Given the description of an element on the screen output the (x, y) to click on. 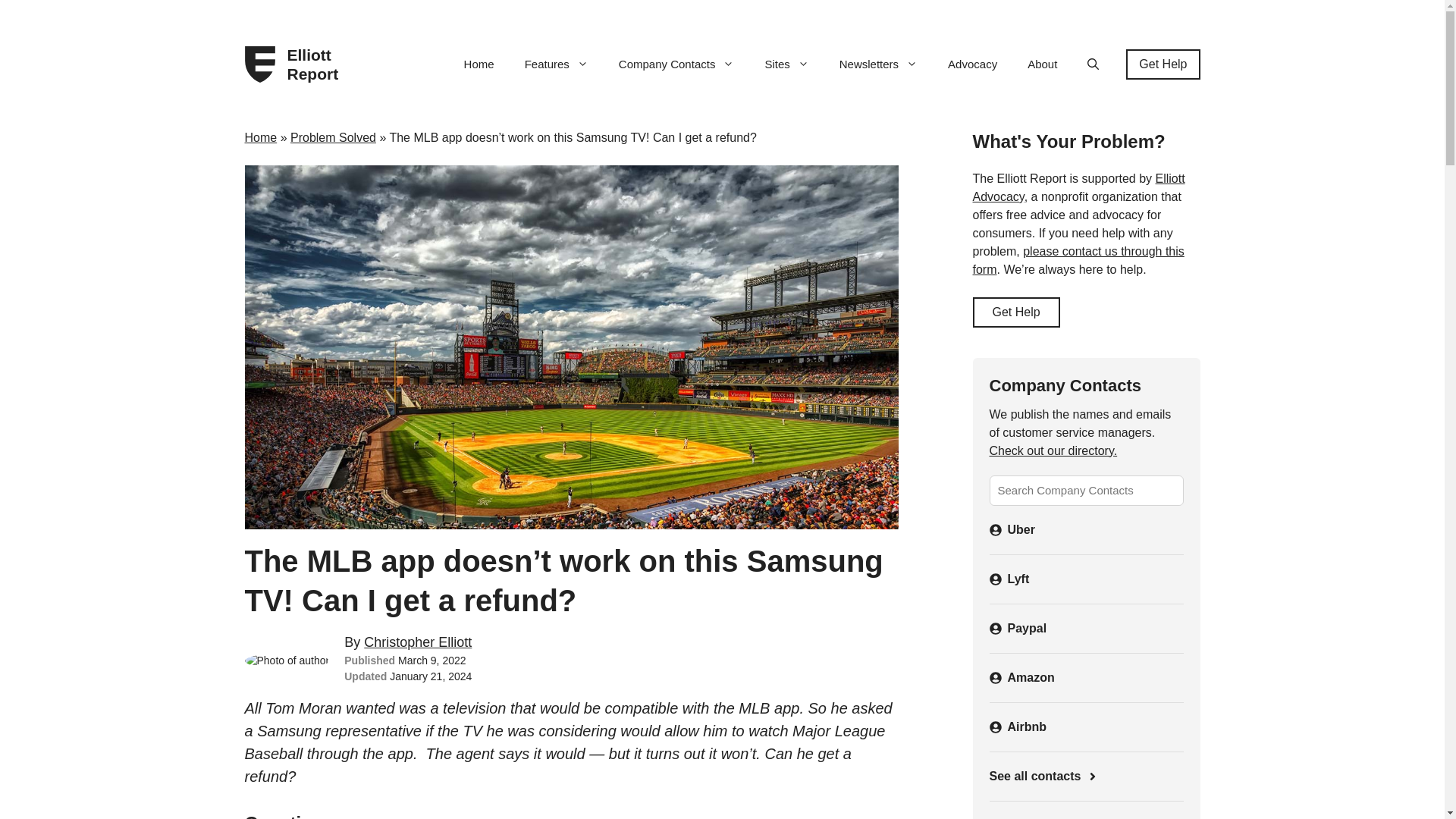
Advocacy (972, 64)
Sites (786, 64)
Company Contacts (676, 64)
Home (478, 64)
Advertisement (1085, 814)
Features (556, 64)
Elliott Report (318, 64)
Get Help (1162, 64)
Newsletters (878, 64)
About (1041, 64)
